Given the description of an element on the screen output the (x, y) to click on. 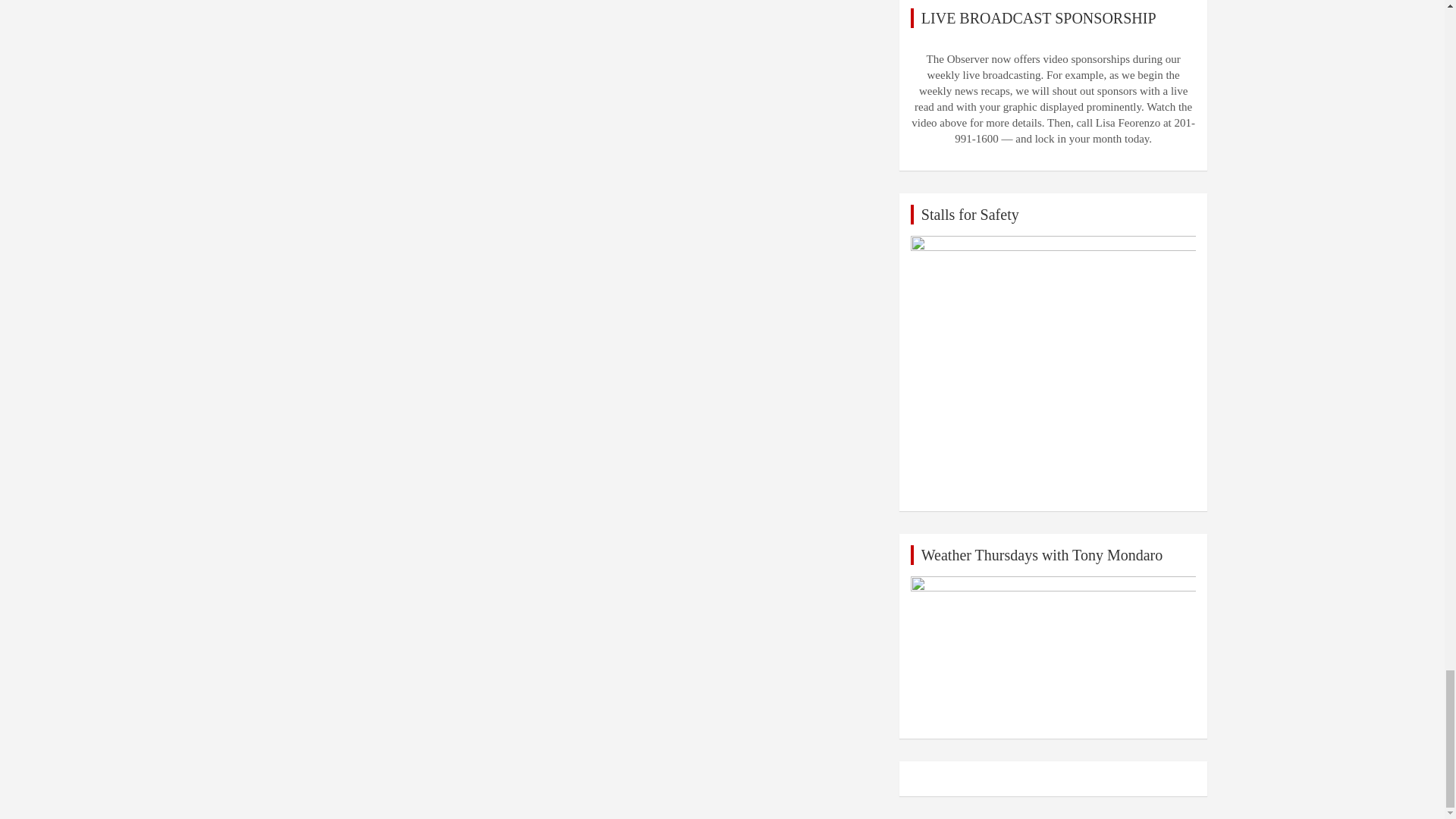
Erick Roofing (1053, 366)
Weather on Fridays with Tony Mondaro (1053, 652)
